Given the description of an element on the screen output the (x, y) to click on. 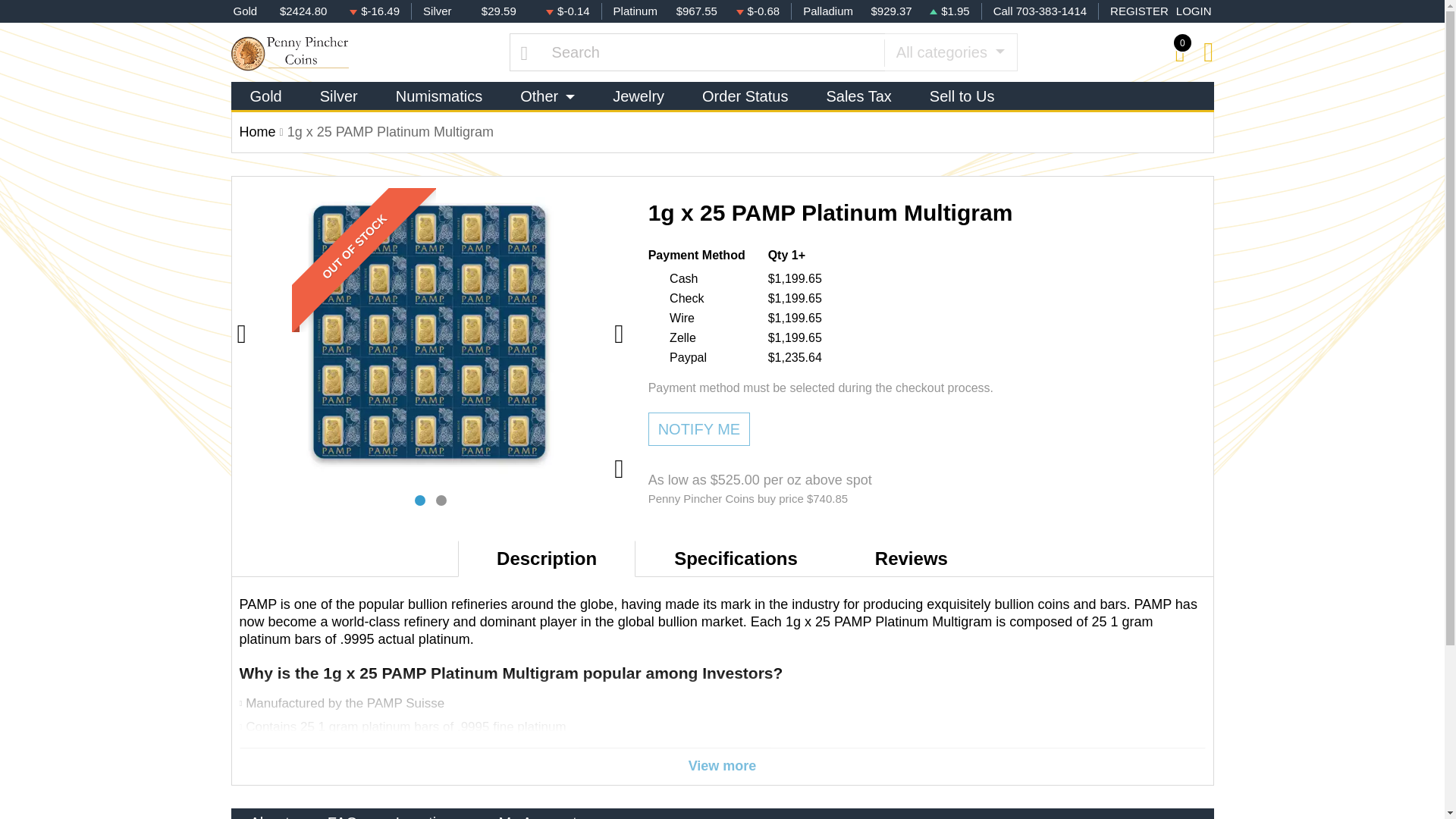
Jewelry (638, 95)
Gold (264, 95)
Sales Tax (858, 95)
Order Status (744, 95)
All categories (950, 52)
REGISTER (1139, 11)
Silver (339, 95)
Sell to Us (962, 95)
Other (547, 95)
Numismatics (438, 95)
Home (258, 132)
LOGIN (1193, 11)
